Given the description of an element on the screen output the (x, y) to click on. 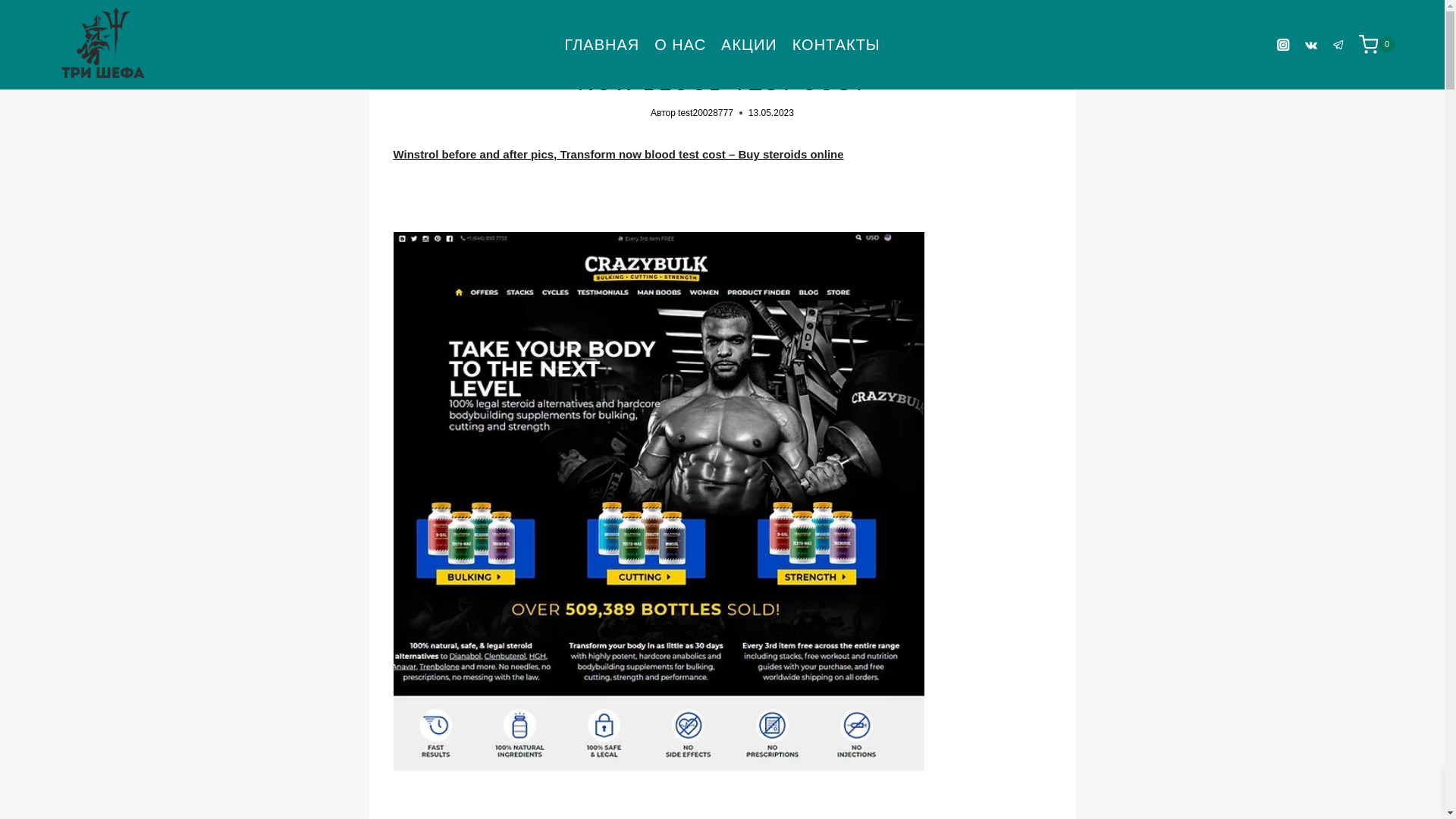
0 (1392, 44)
test20028777 (705, 112)
UNCATEGORIZED (722, 30)
